Given the description of an element on the screen output the (x, y) to click on. 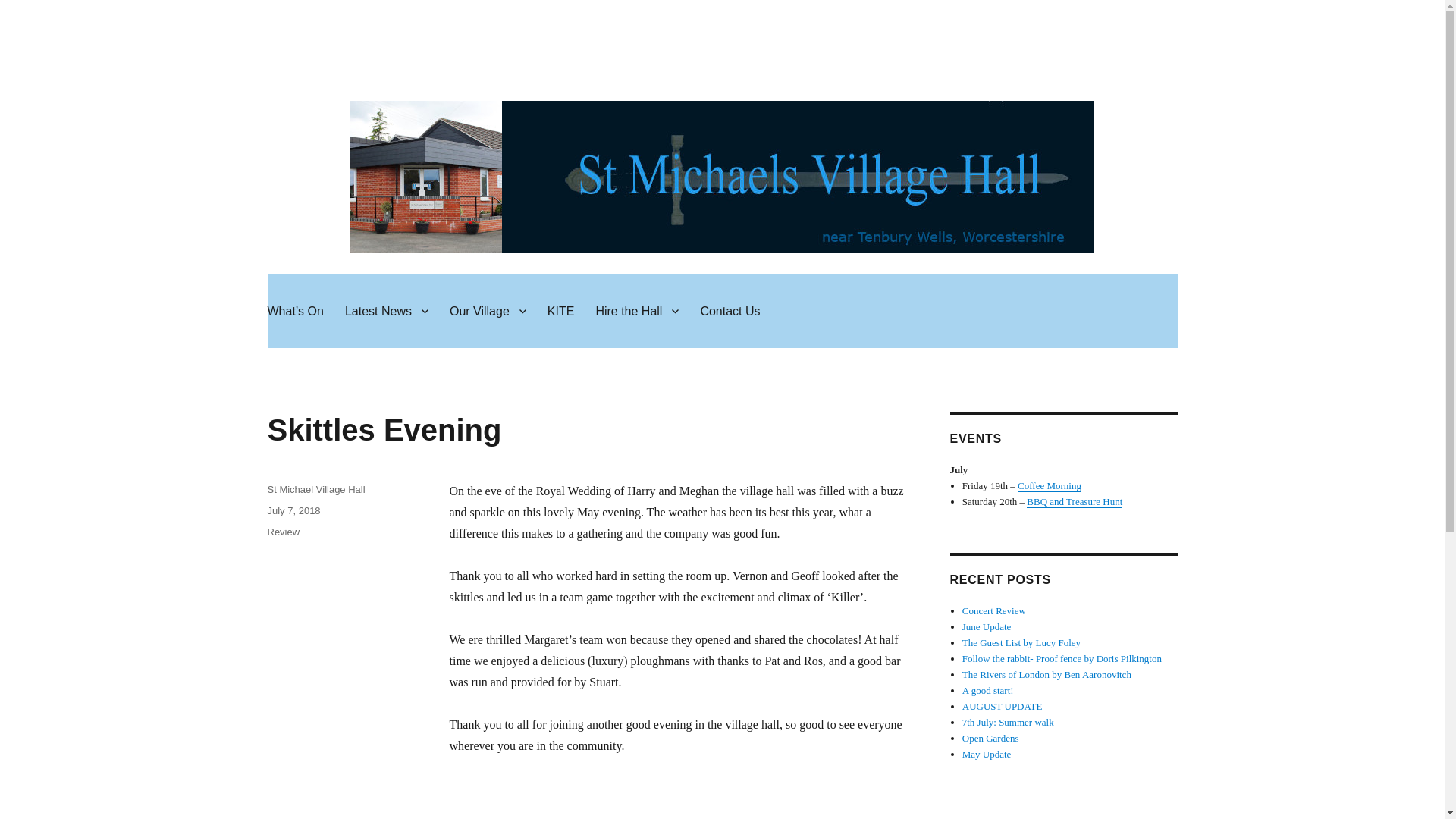
Follow the rabbit- Proof fence by Doris Pilkington (1061, 658)
KITE (561, 310)
A good start! (987, 690)
BBQ and Treasure Hunt (1074, 501)
Coffee Morning (1049, 485)
Latest News (386, 310)
May Update (986, 754)
Our Village (488, 310)
Hire the Hall (636, 310)
Review (282, 531)
June Update (986, 626)
AUGUST UPDATE (1002, 706)
The Guest List by Lucy Foley (1021, 642)
7th July: Summer walk (1008, 722)
July 7, 2018 (293, 510)
